Given the description of an element on the screen output the (x, y) to click on. 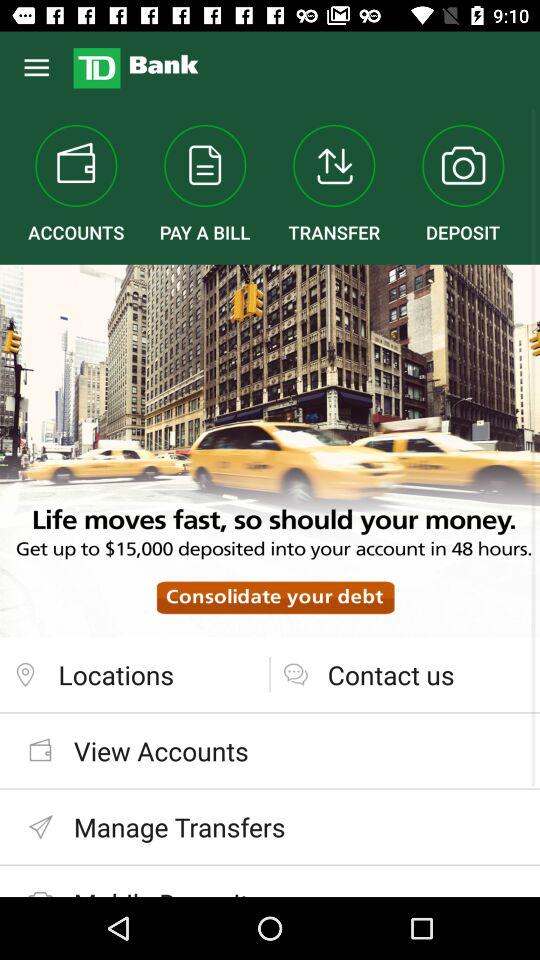
turn on the icon below locations (270, 750)
